Given the description of an element on the screen output the (x, y) to click on. 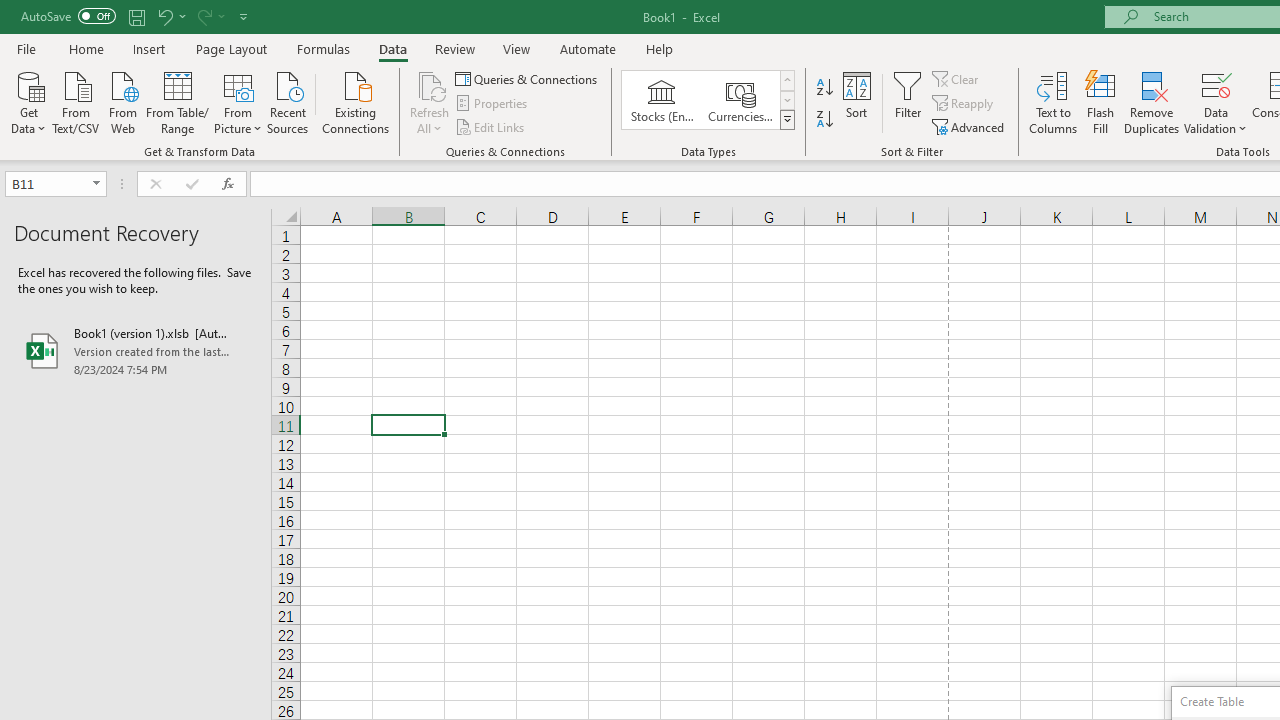
AutoSave (68, 16)
Data Validation... (1215, 102)
Text to Columns... (1053, 102)
Stocks (English) (662, 100)
AutomationID: ConvertToLinkedEntity (708, 99)
Refresh All (429, 102)
From Text/CSV (75, 101)
Currencies (English) (740, 100)
Recent Sources (287, 101)
